Given the description of an element on the screen output the (x, y) to click on. 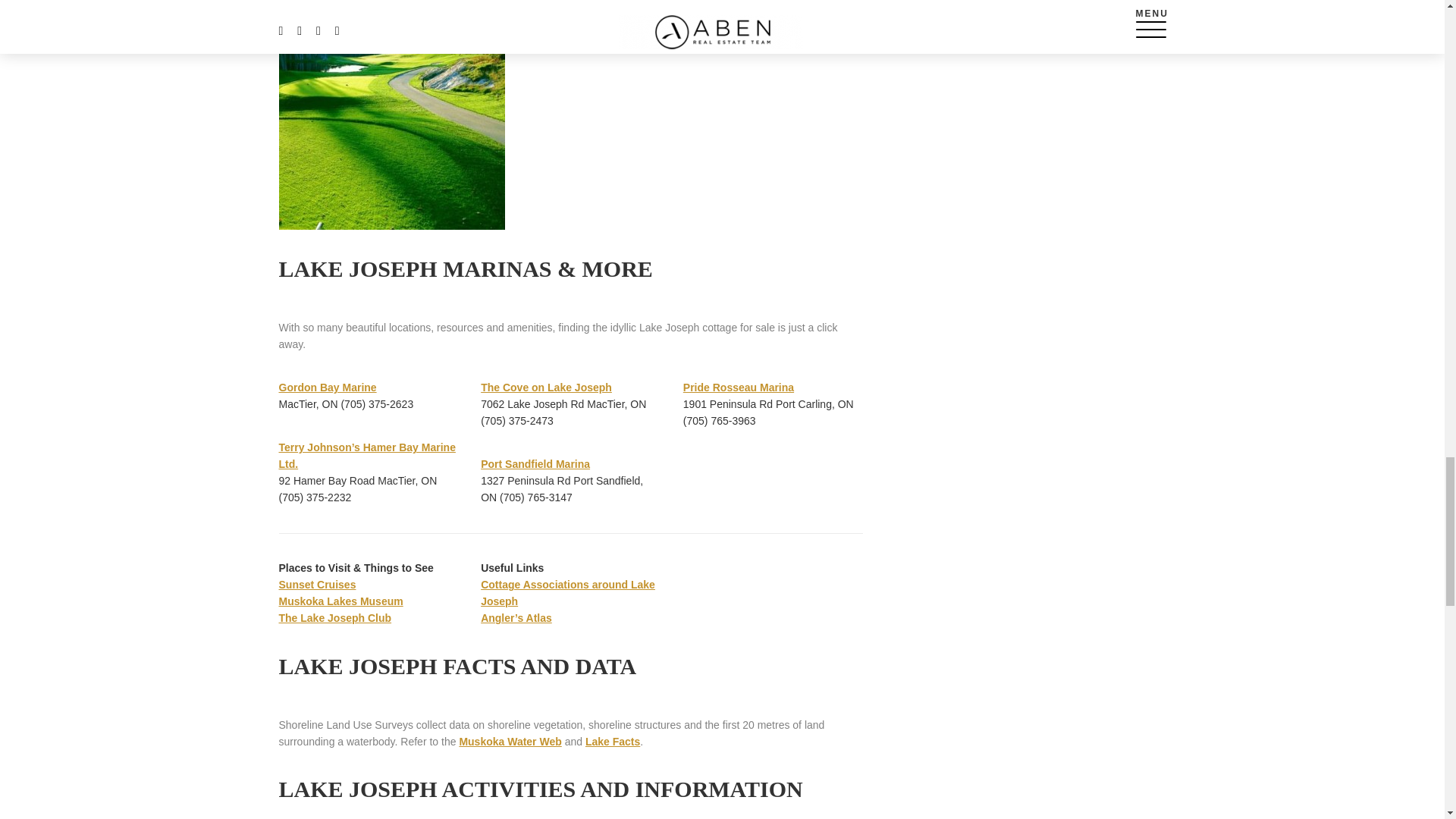
Lake Joseph (392, 116)
